Given the description of an element on the screen output the (x, y) to click on. 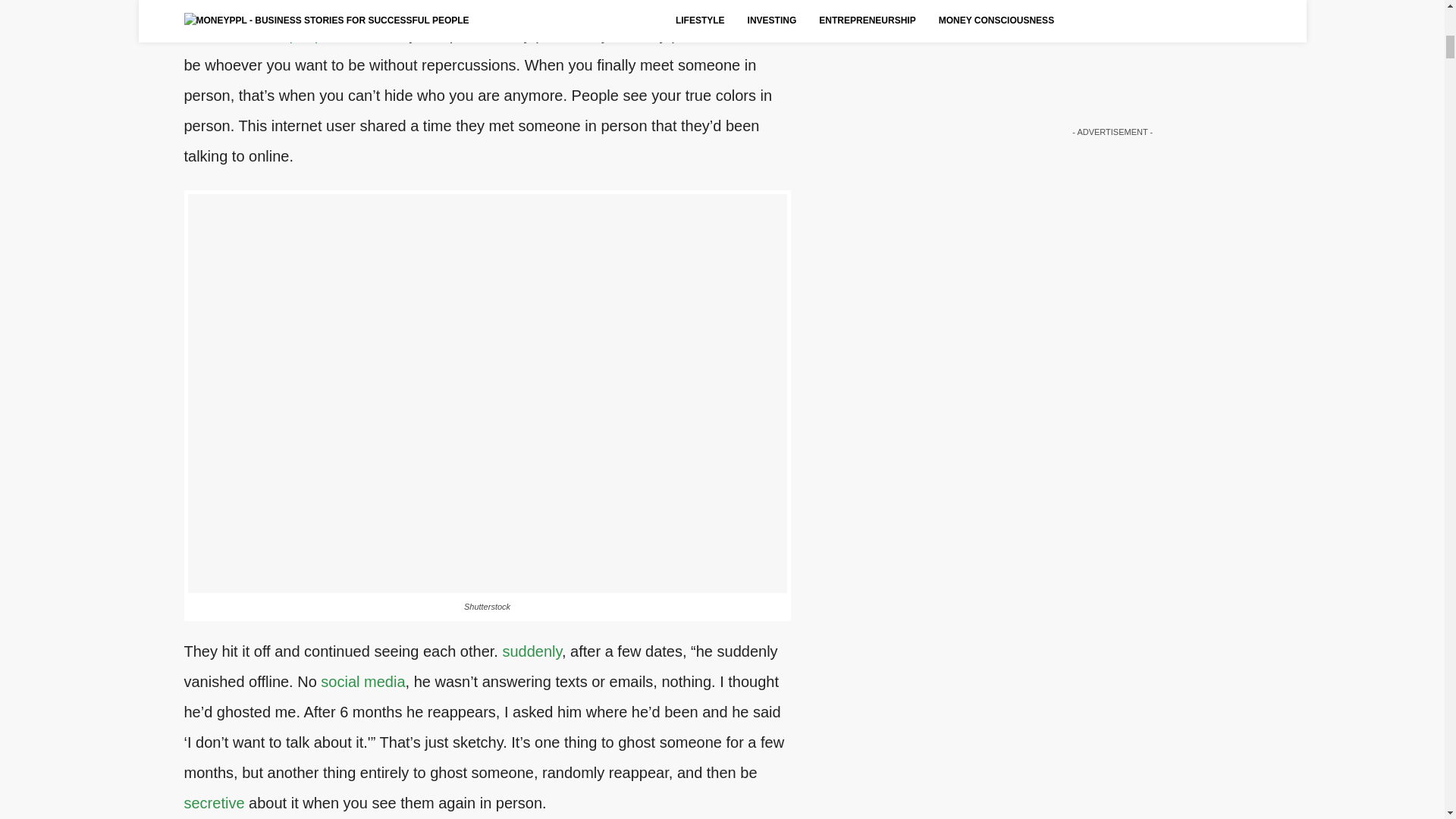
suddenly (532, 651)
social media (362, 681)
secretive (213, 802)
people online (333, 34)
